Given the description of an element on the screen output the (x, y) to click on. 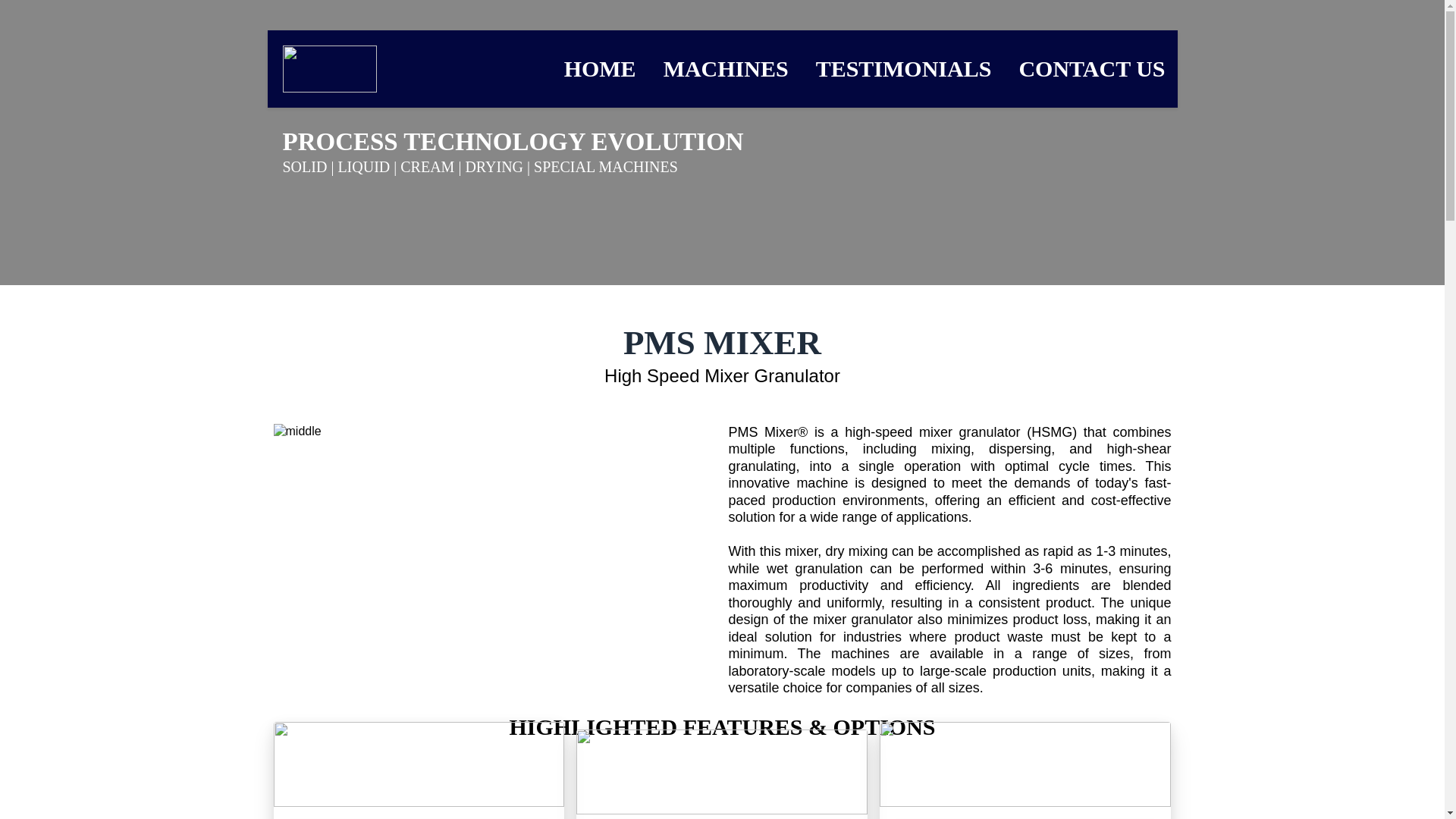
CONTACT US (1090, 68)
HOME (600, 68)
TESTIMONIALS (903, 68)
MACHINES (726, 68)
